Given the description of an element on the screen output the (x, y) to click on. 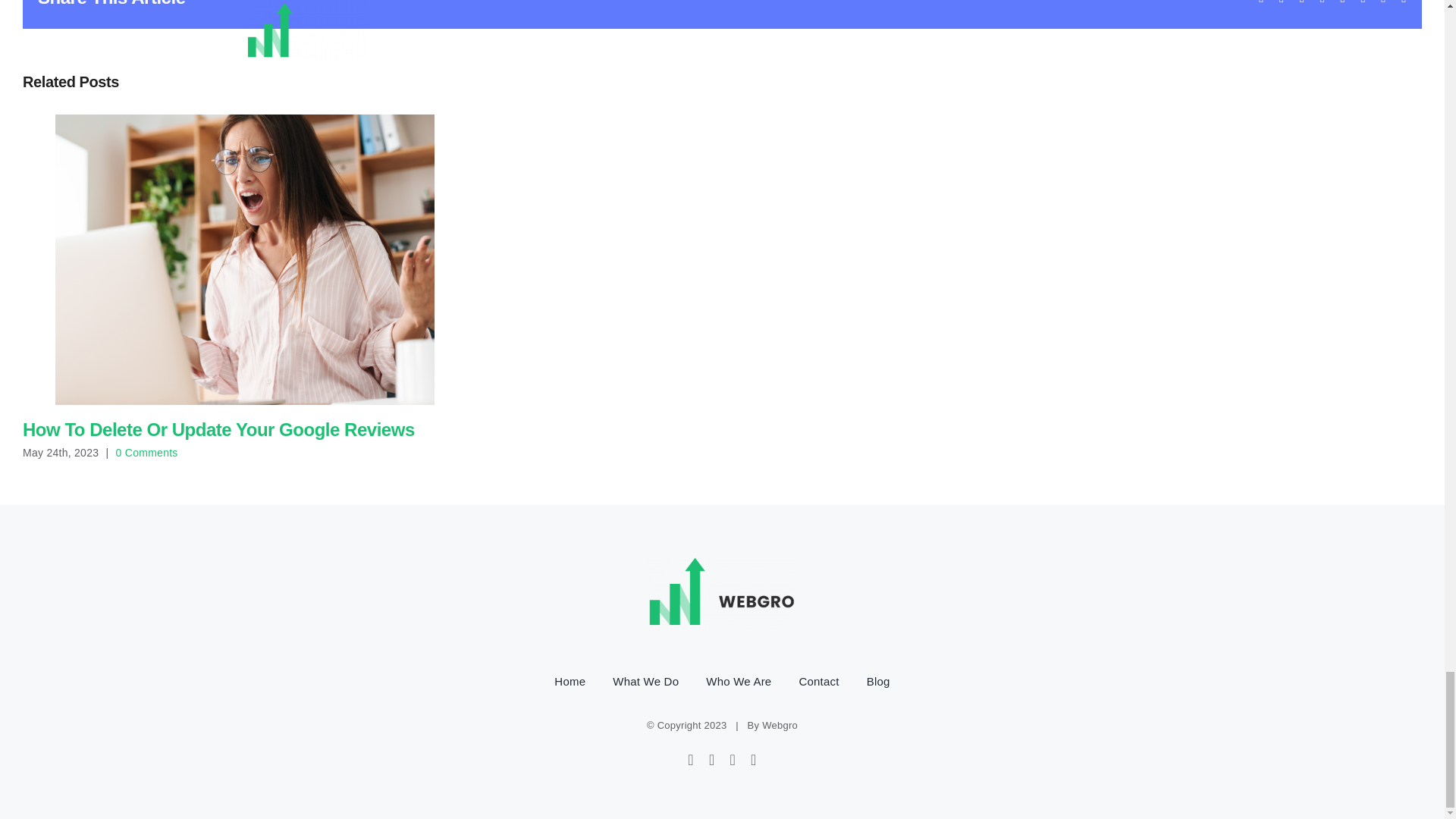
How To Delete Or Update Your Google Reviews (218, 429)
0 Comments (146, 452)
Who We Are (738, 681)
What We Do (645, 681)
How To Delete Or Update Your Google Reviews (218, 429)
